Given the description of an element on the screen output the (x, y) to click on. 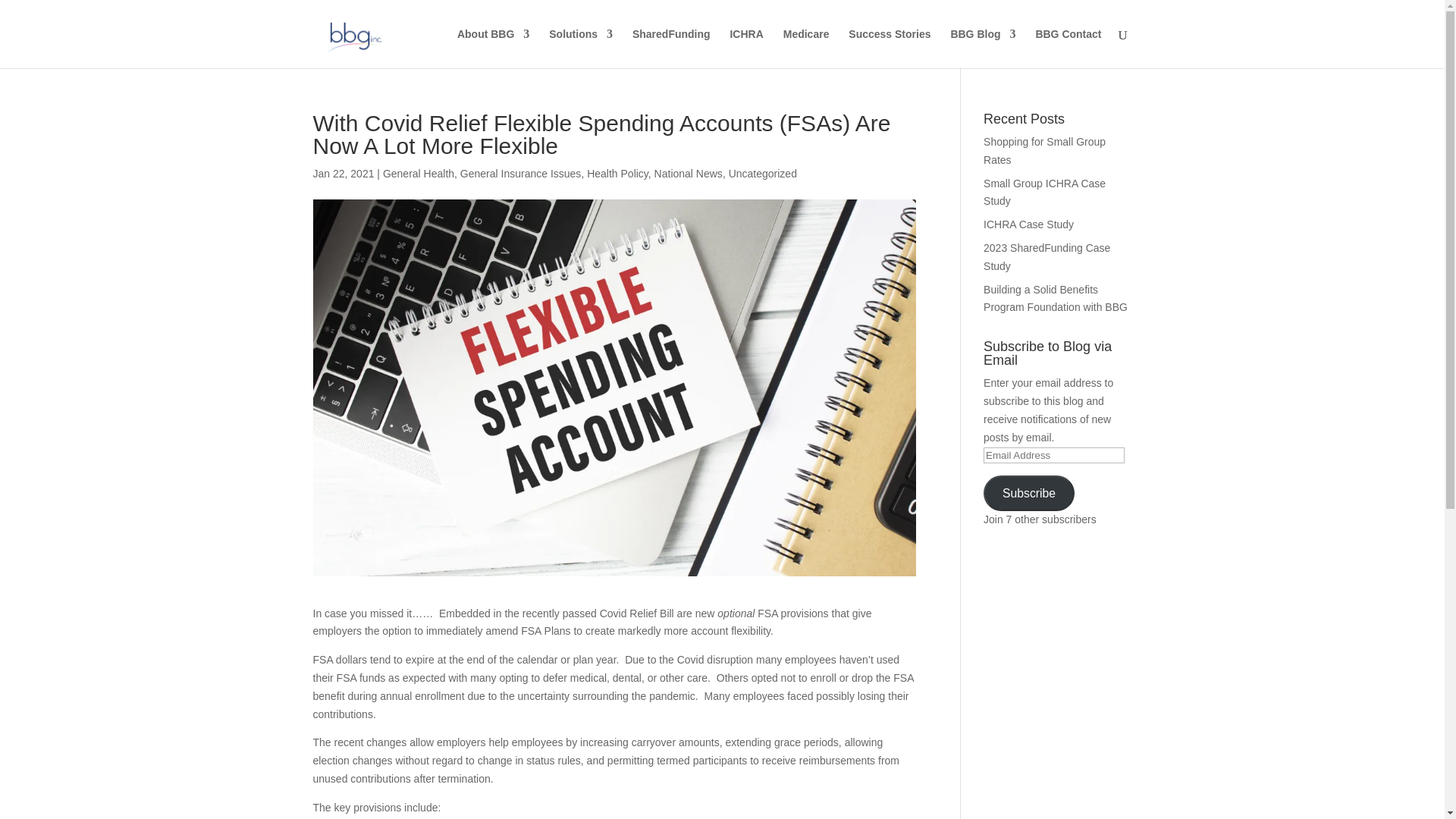
Medicare (806, 47)
BBG Blog (982, 47)
ICHRA (745, 47)
Success Stories (889, 47)
About BBG (493, 47)
Solutions (580, 47)
SharedFunding (670, 47)
BBG Contact (1067, 47)
